Given the description of an element on the screen output the (x, y) to click on. 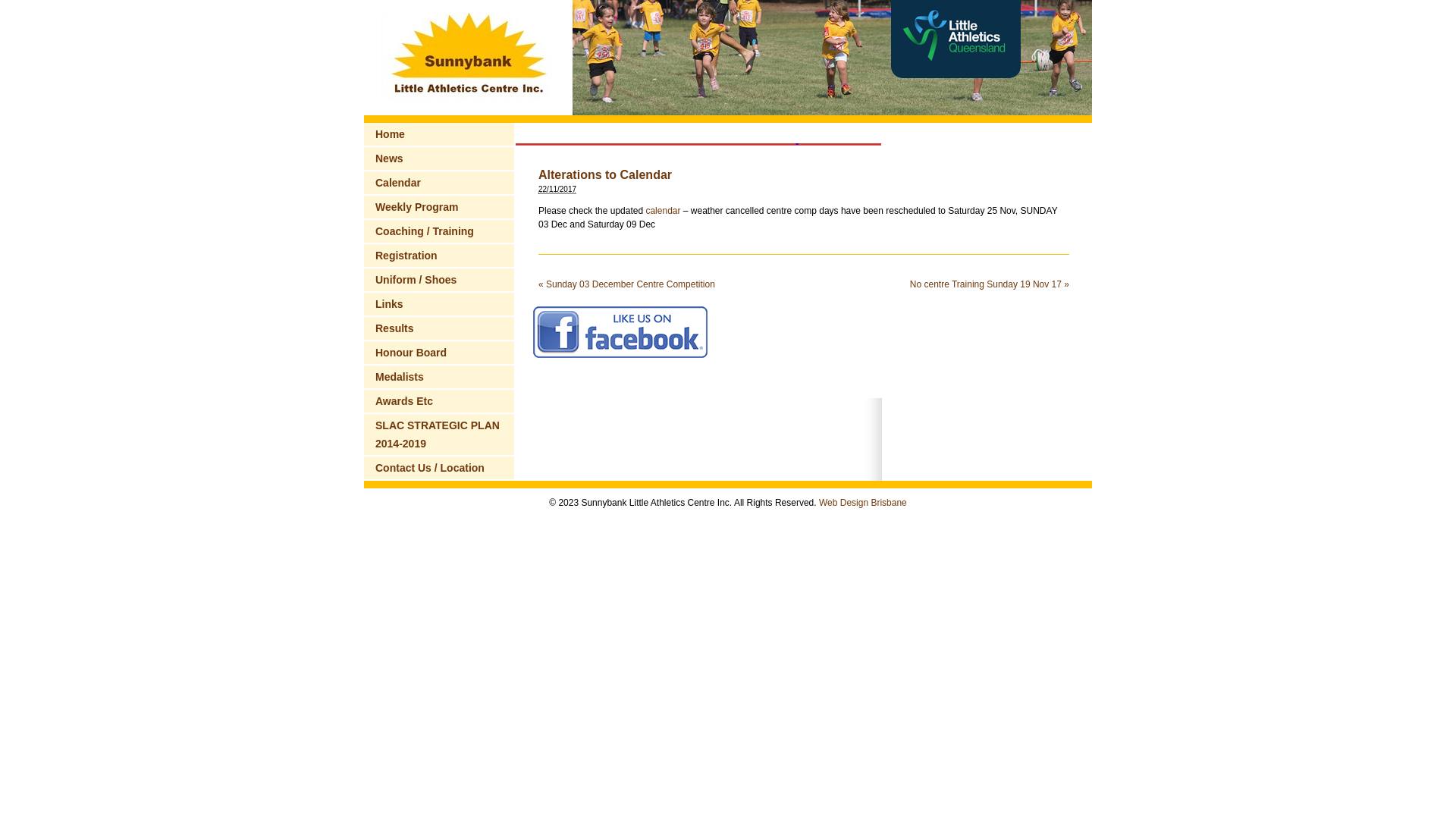
SLAC STRATEGIC PLAN 2014-2019 Element type: text (439, 434)
Medalists Element type: text (439, 376)
Calendar Element type: text (439, 182)
Awards Etc Element type: text (439, 400)
Weekly Program Element type: text (439, 206)
Little Athletics Queensland Element type: hover (955, 39)
Contact Us / Location Element type: text (439, 467)
Little Athletics Queensland Element type: hover (955, 74)
Uniform / Shoes Element type: text (439, 279)
Sunnybank Little Athletics Centre Inc. Element type: hover (468, 57)
Alterations to Calendar Element type: text (604, 174)
calendar Element type: text (662, 210)
Coaching / Training Element type: text (439, 230)
Links Element type: text (439, 303)
Results Element type: text (439, 327)
Registration Element type: text (439, 255)
Honour Board Element type: text (439, 352)
Sunnybank Little Athletics Centre Inc. Element type: hover (468, 111)
News Element type: text (439, 158)
Web Design Brisbane Element type: text (862, 502)
Home Element type: text (439, 133)
